Given the description of an element on the screen output the (x, y) to click on. 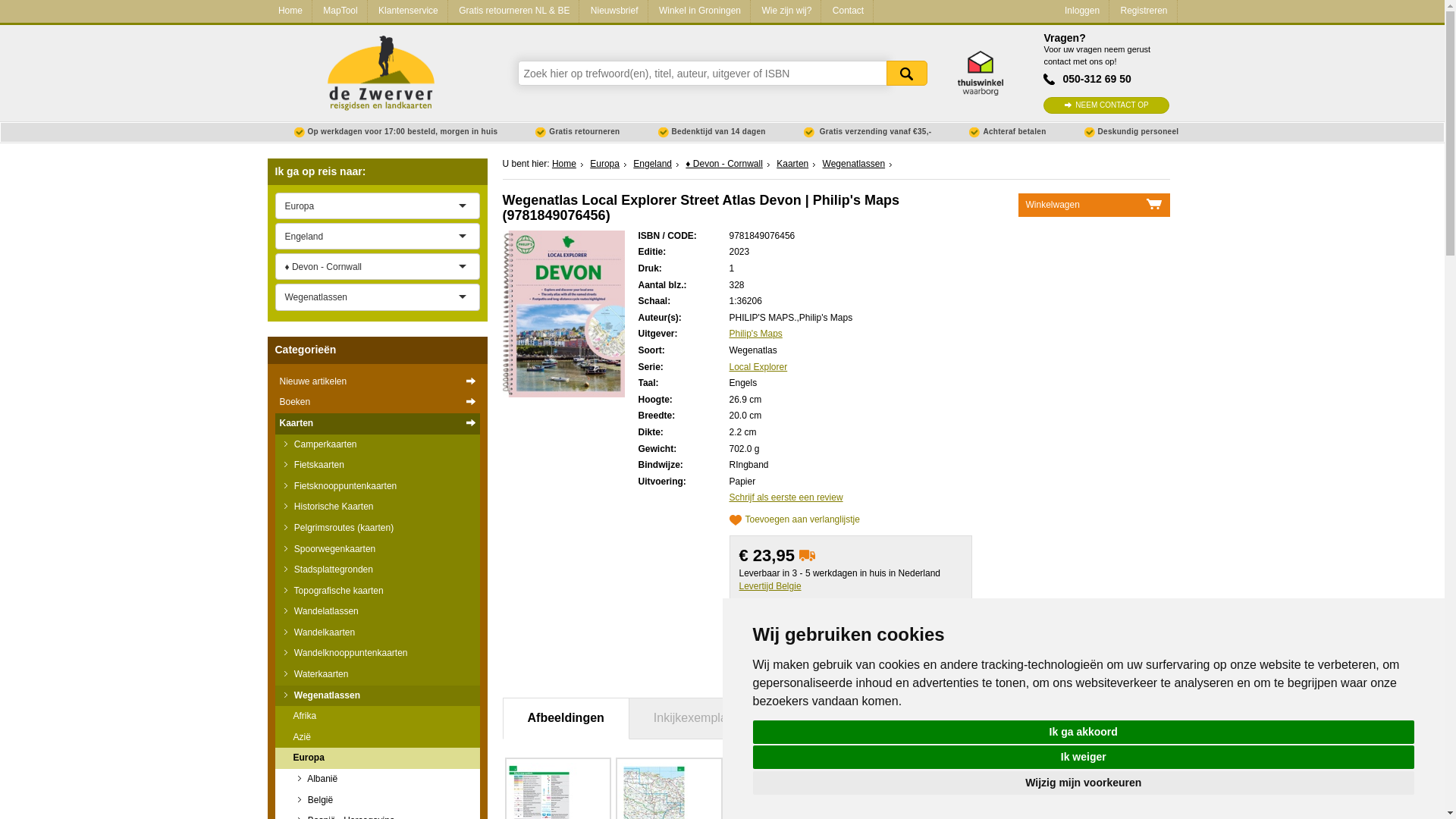
Winkel in Groningen (698, 11)
Kaarten (377, 423)
Klantenservice (407, 11)
Fietsknooppuntenkaarten (377, 486)
Zoeken (905, 72)
Spoorwegenkaarten (377, 548)
Boeken (377, 402)
Nieuwsbrief (612, 11)
Contact (846, 11)
Waterkaarten (377, 674)
Afrika (377, 716)
Waterkaarten (377, 674)
Wandelatlassen (377, 611)
Wandelatlassen (377, 611)
Home (288, 11)
